Given the description of an element on the screen output the (x, y) to click on. 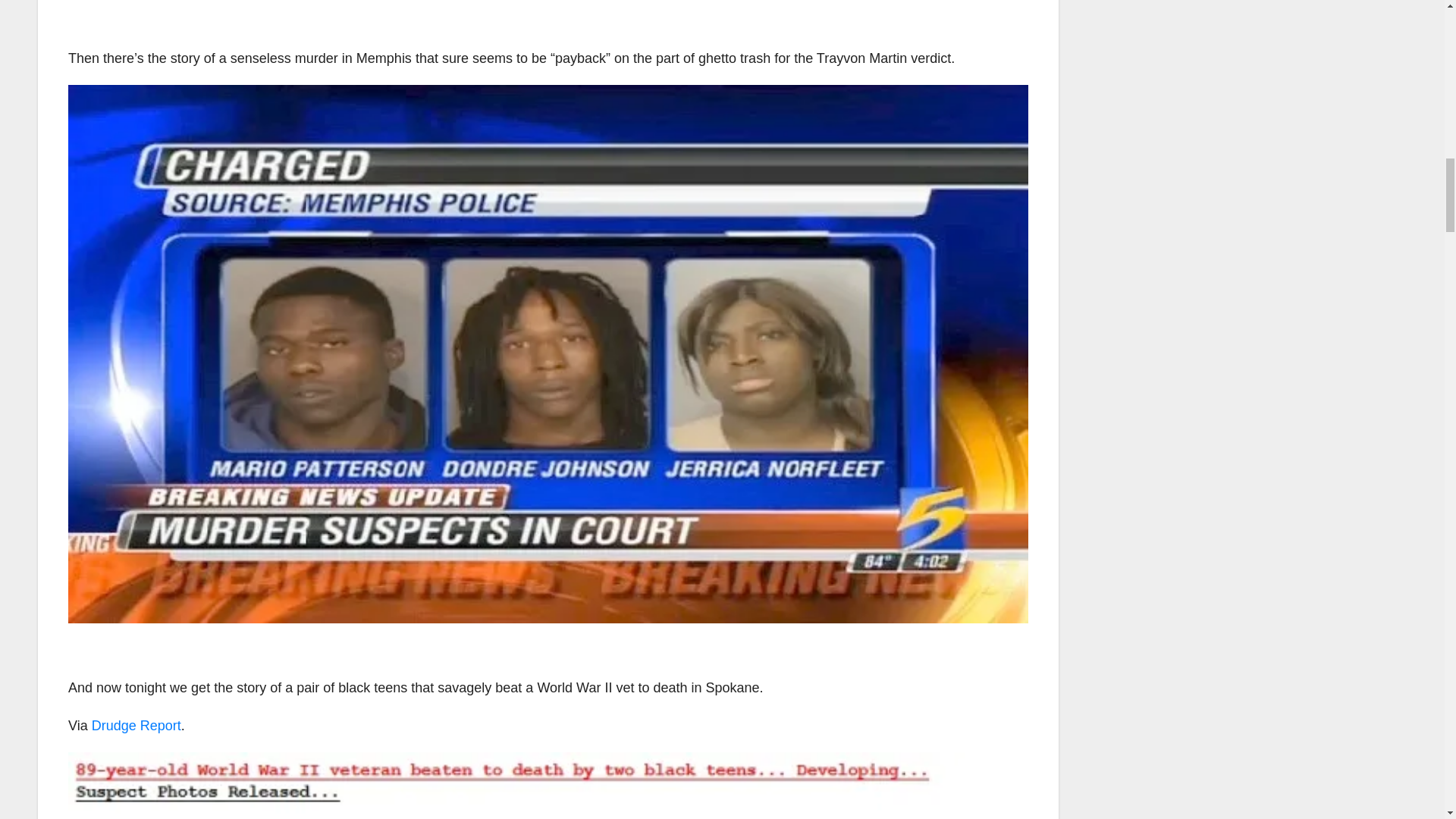
Drudge Report (135, 725)
Shortyleftfordead (547, 785)
